Given the description of an element on the screen output the (x, y) to click on. 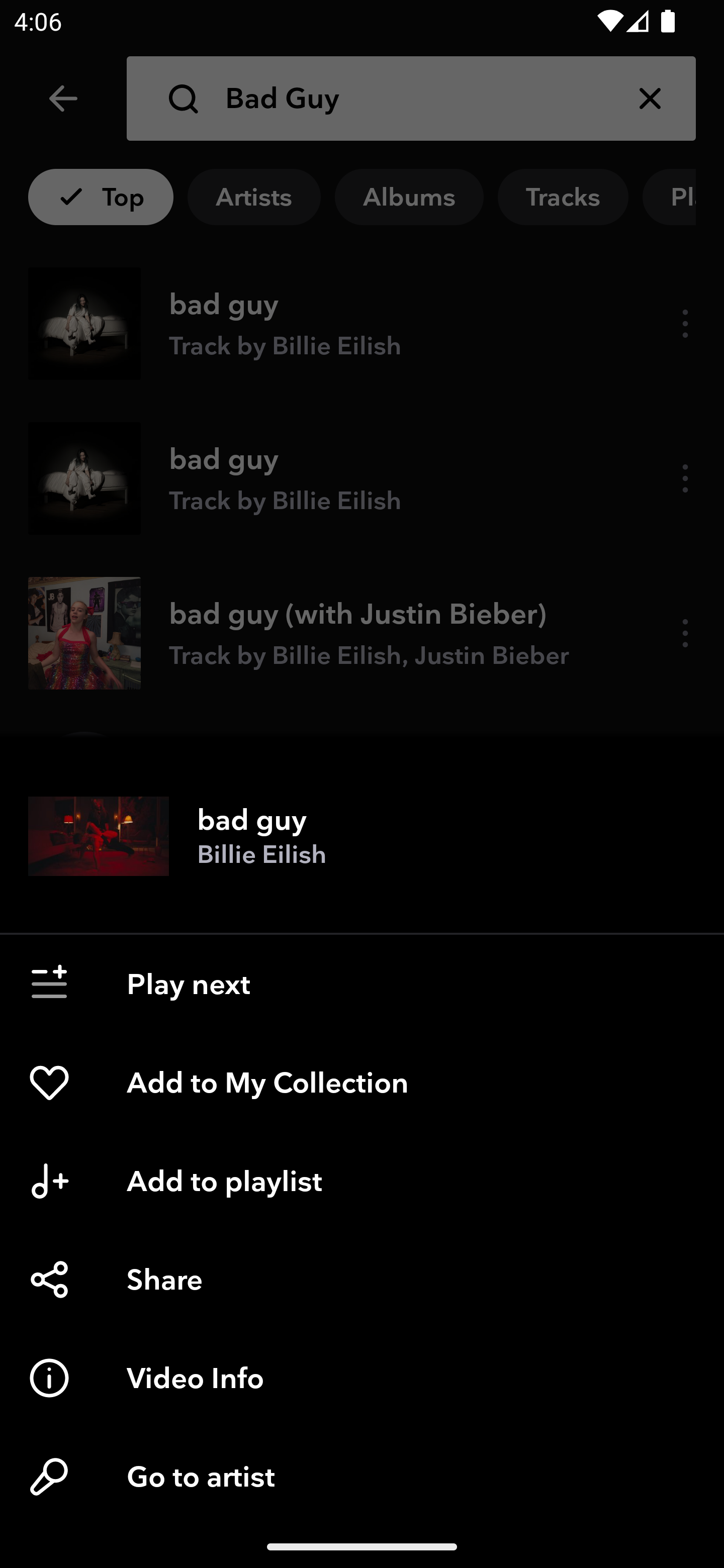
Play next (362, 983)
Add to My Collection (362, 1082)
Add to playlist (362, 1181)
Share (362, 1279)
Video Info (362, 1377)
Go to artist (362, 1475)
